Given the description of an element on the screen output the (x, y) to click on. 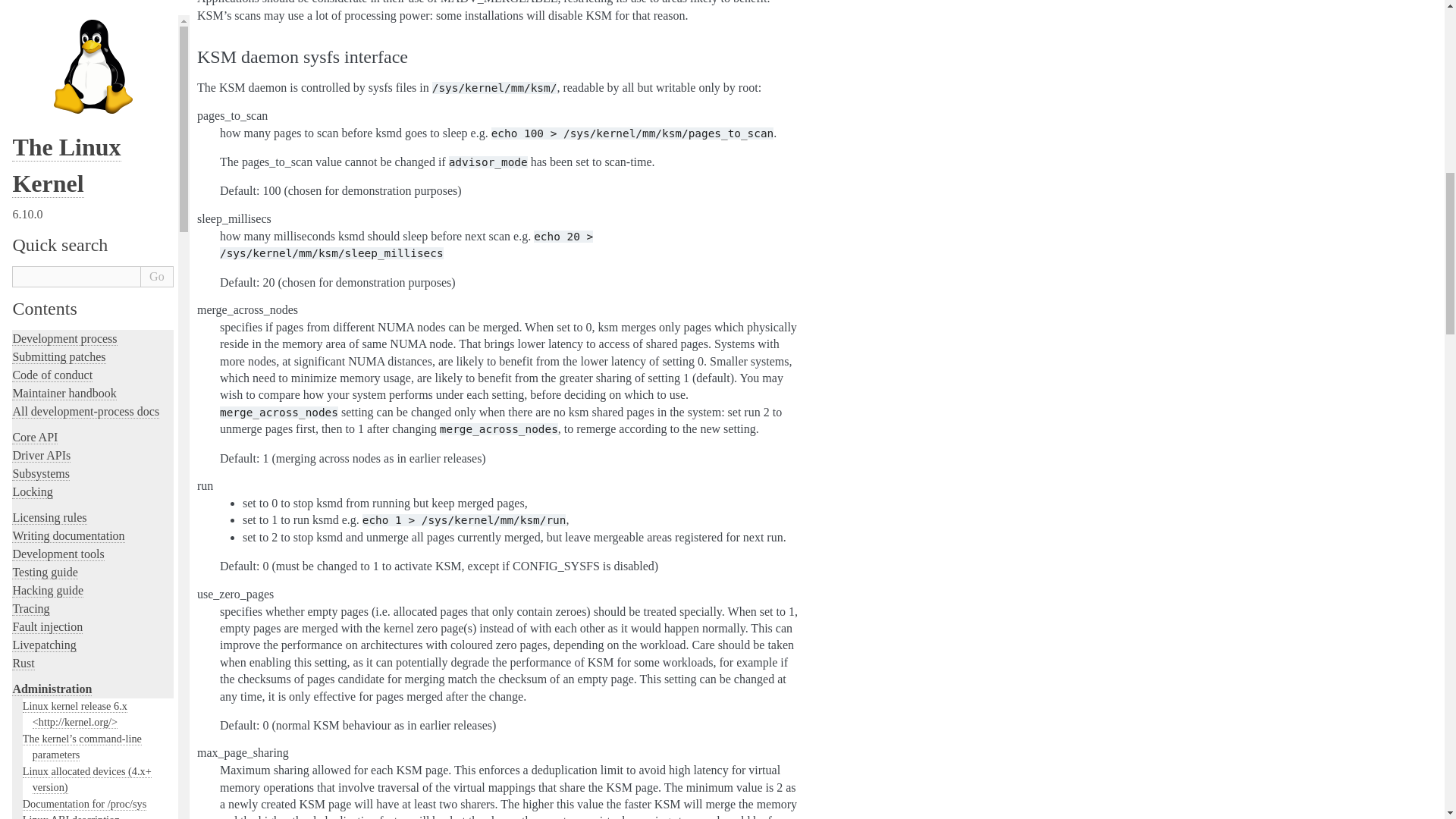
Linux ABI description (71, 3)
How to quickly build a trimmed Linux kernel (92, 90)
Bisecting a bug (56, 163)
Feature status on all architectures (95, 16)
Reporting issues (58, 49)
Tainted kernels (55, 179)
Dynamic debug (57, 212)
Bug hunting (50, 146)
Reporting regressions (70, 65)
